Given the description of an element on the screen output the (x, y) to click on. 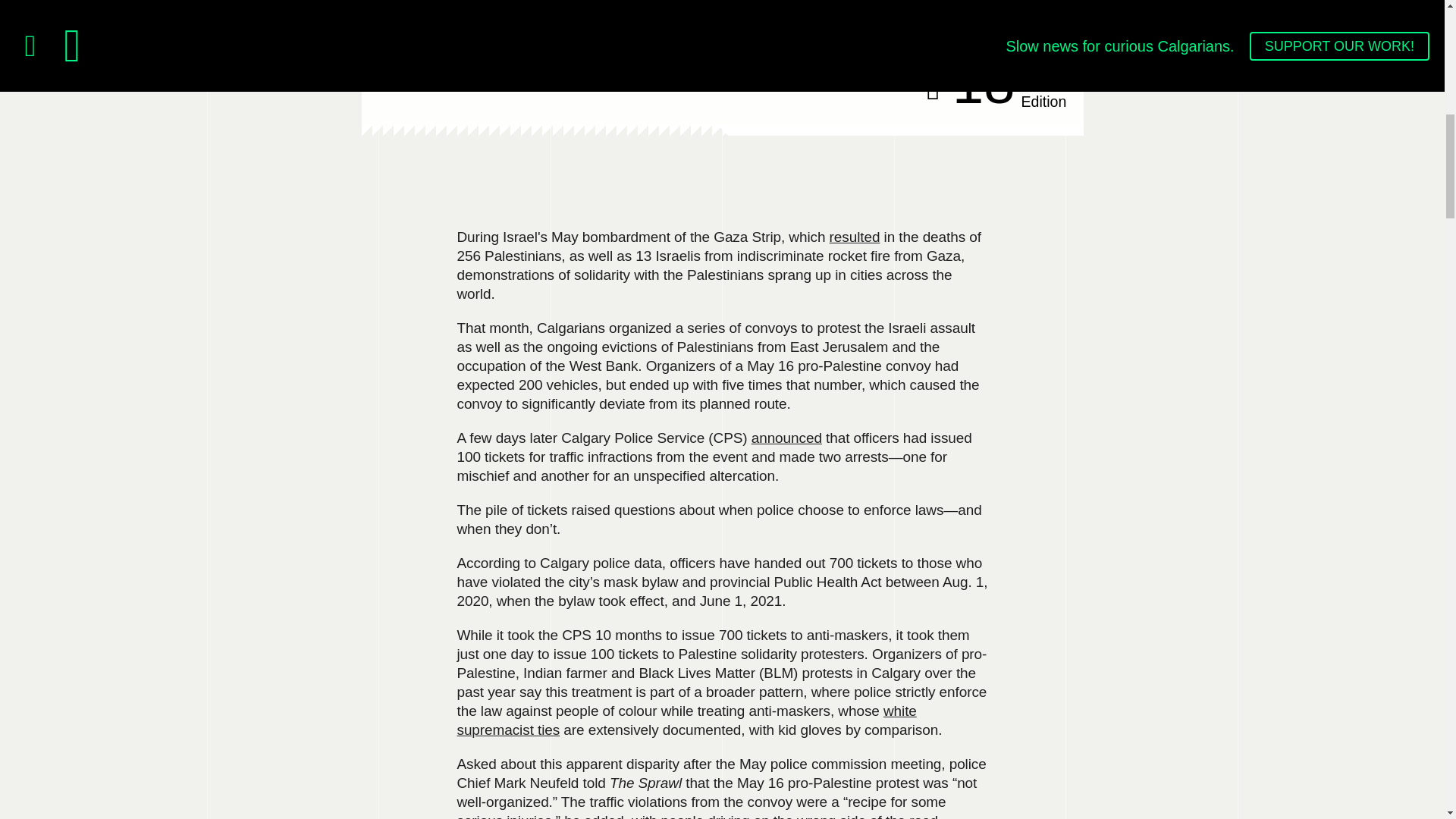
resulted (990, 86)
white supremacist ties (854, 236)
JEREMY APPEL (686, 719)
Sign Me Up! (415, 70)
announced (821, 639)
